Given the description of an element on the screen output the (x, y) to click on. 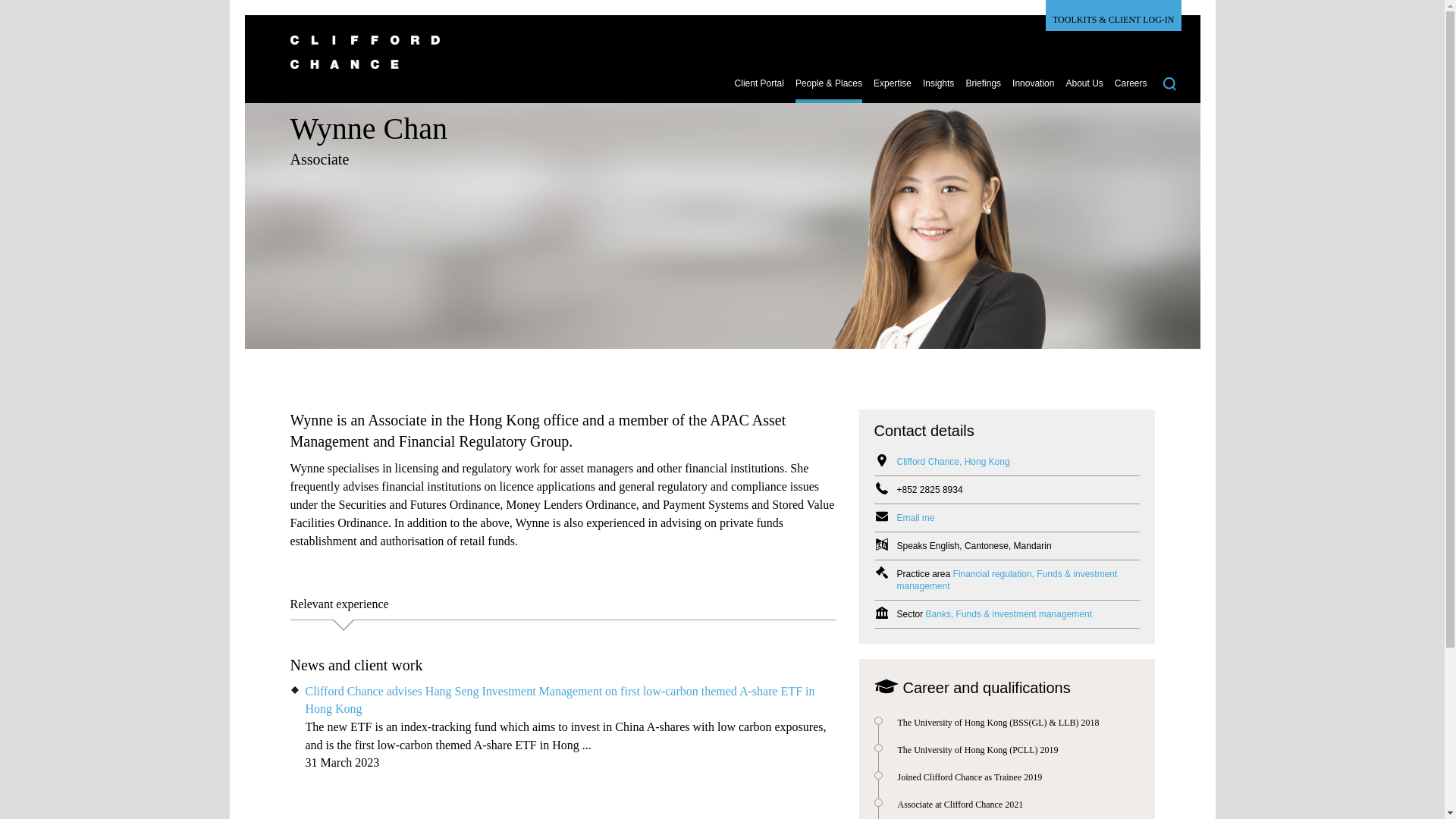
Clifford Chance (713, 60)
Client Portal (759, 89)
Go to Clifford Chance, Hong Kong office page (952, 461)
